Given the description of an element on the screen output the (x, y) to click on. 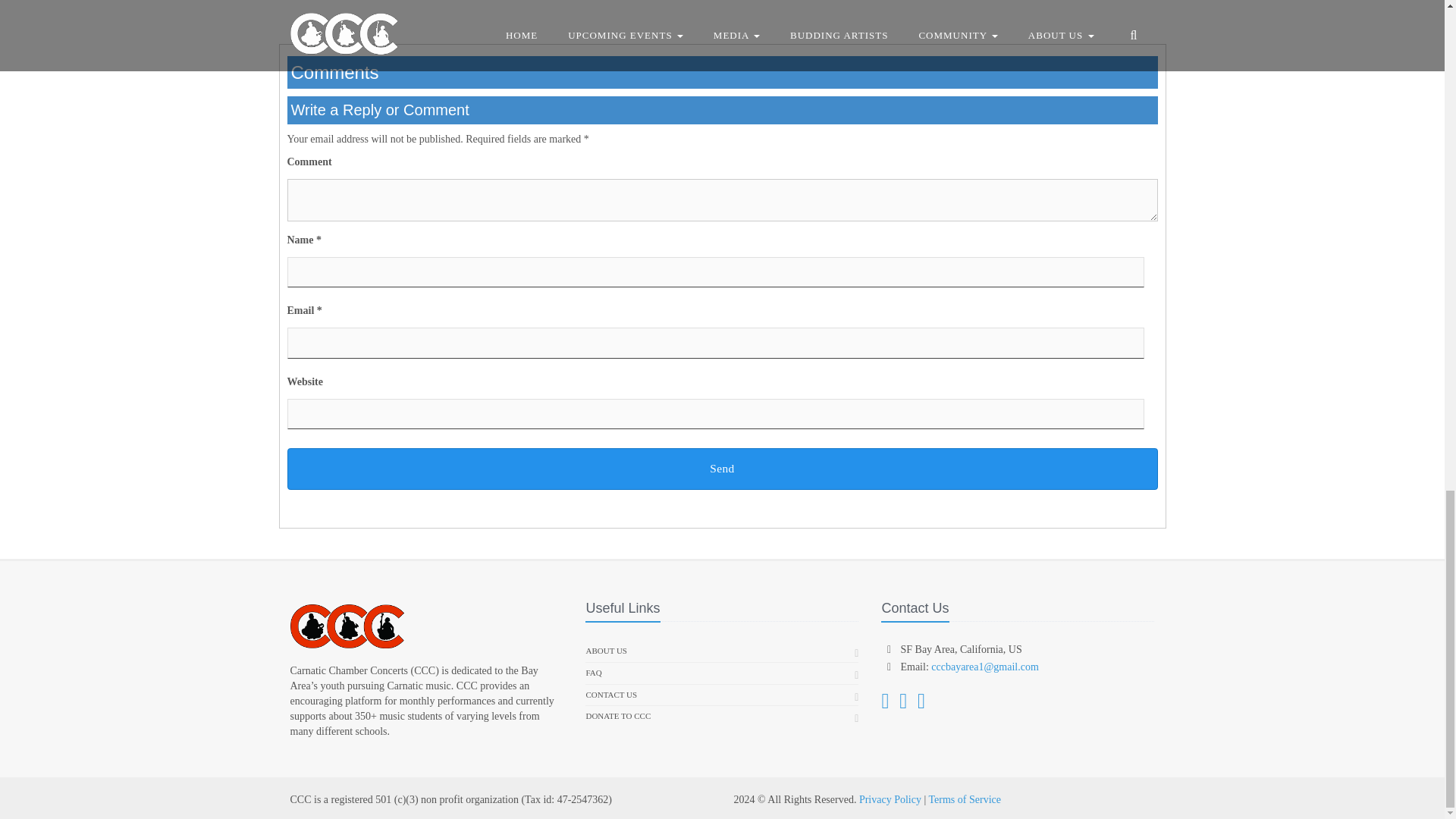
ABOUT US (606, 650)
Send (721, 468)
Send (721, 468)
CONTACT US (611, 694)
Privacy Policy (890, 799)
DONATE TO CCC (617, 716)
